Given the description of an element on the screen output the (x, y) to click on. 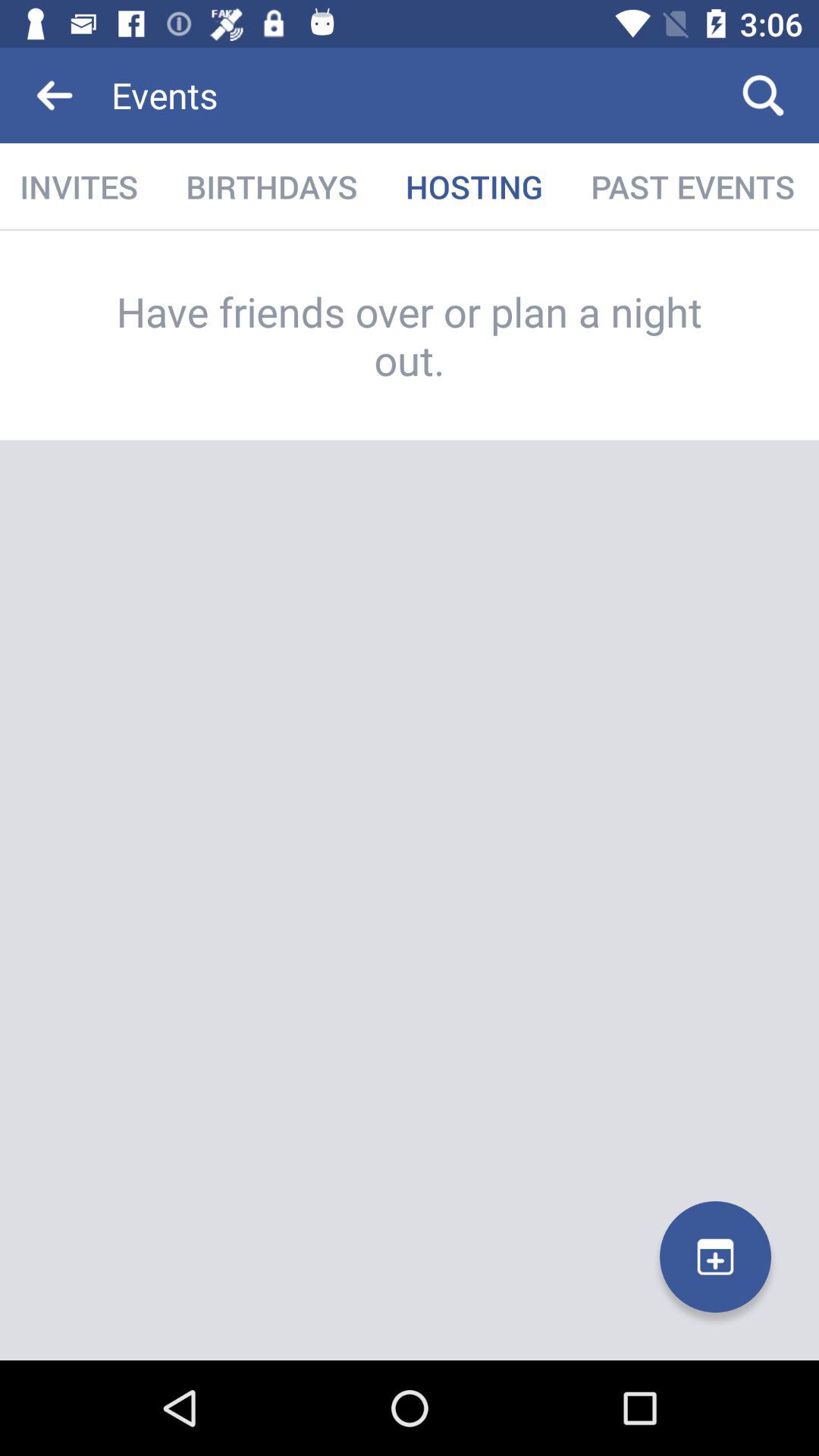
press icon to the right of birthdays icon (474, 186)
